Given the description of an element on the screen output the (x, y) to click on. 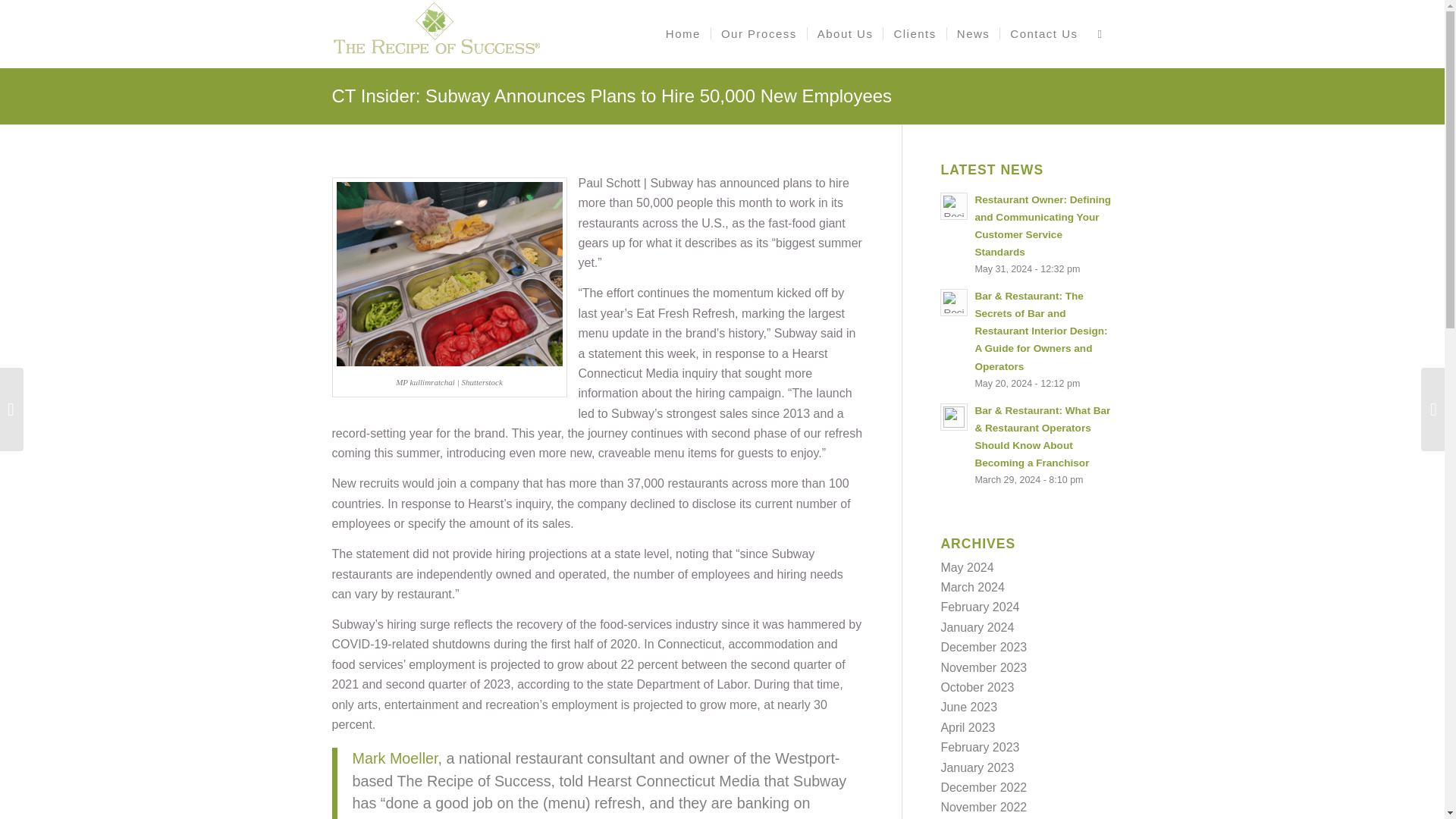
Mark Moeller (395, 758)
November 2022 (983, 807)
February 2024 (979, 606)
October 2023 (976, 686)
November 2023 (983, 667)
March 2024 (972, 586)
February 2023 (979, 747)
January 2023 (976, 767)
About Us (844, 33)
May 2024 (966, 567)
RoS New Logo Stacked Gold (435, 33)
